Given the description of an element on the screen output the (x, y) to click on. 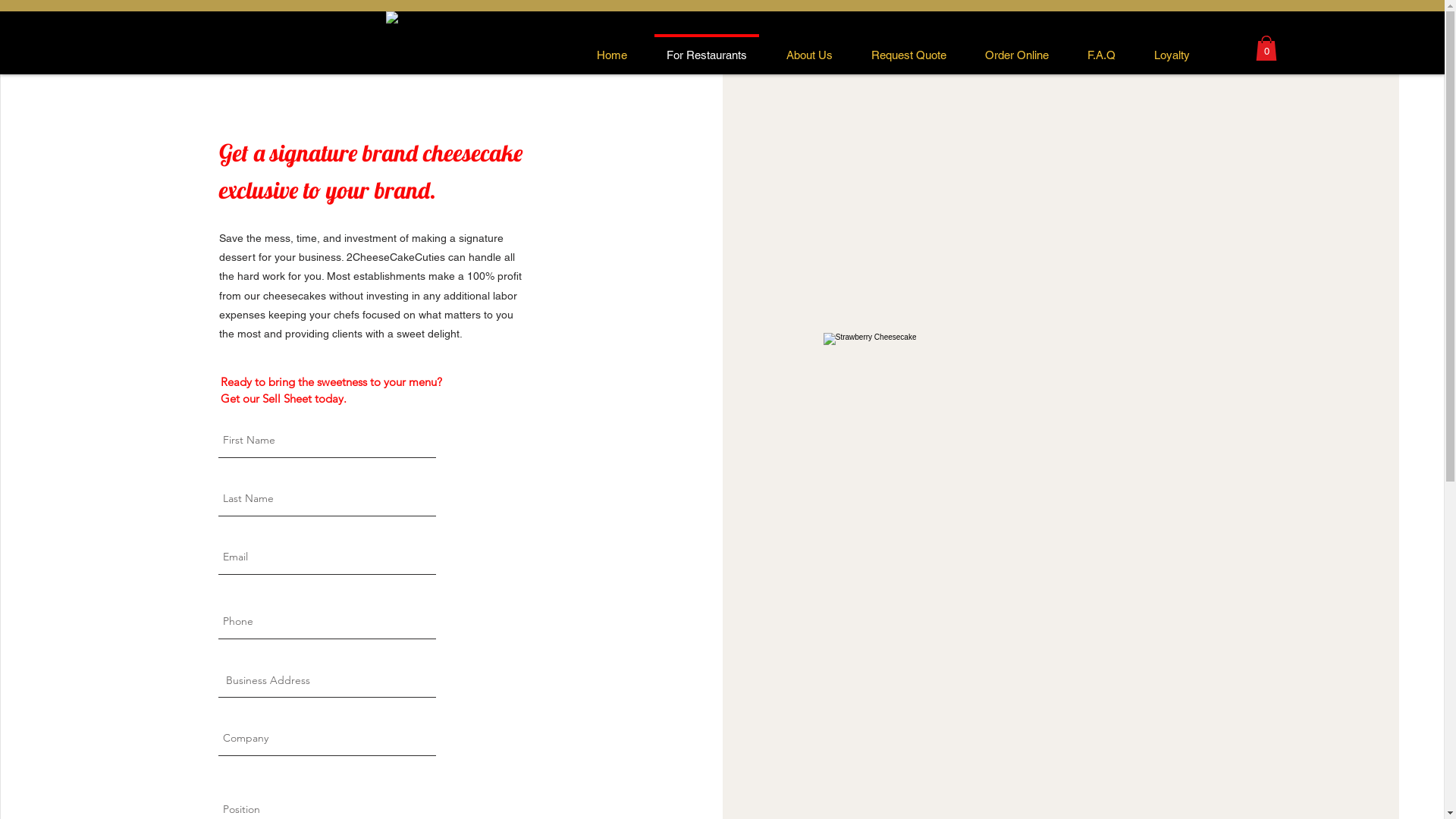
0 Element type: text (1266, 47)
